Given the description of an element on the screen output the (x, y) to click on. 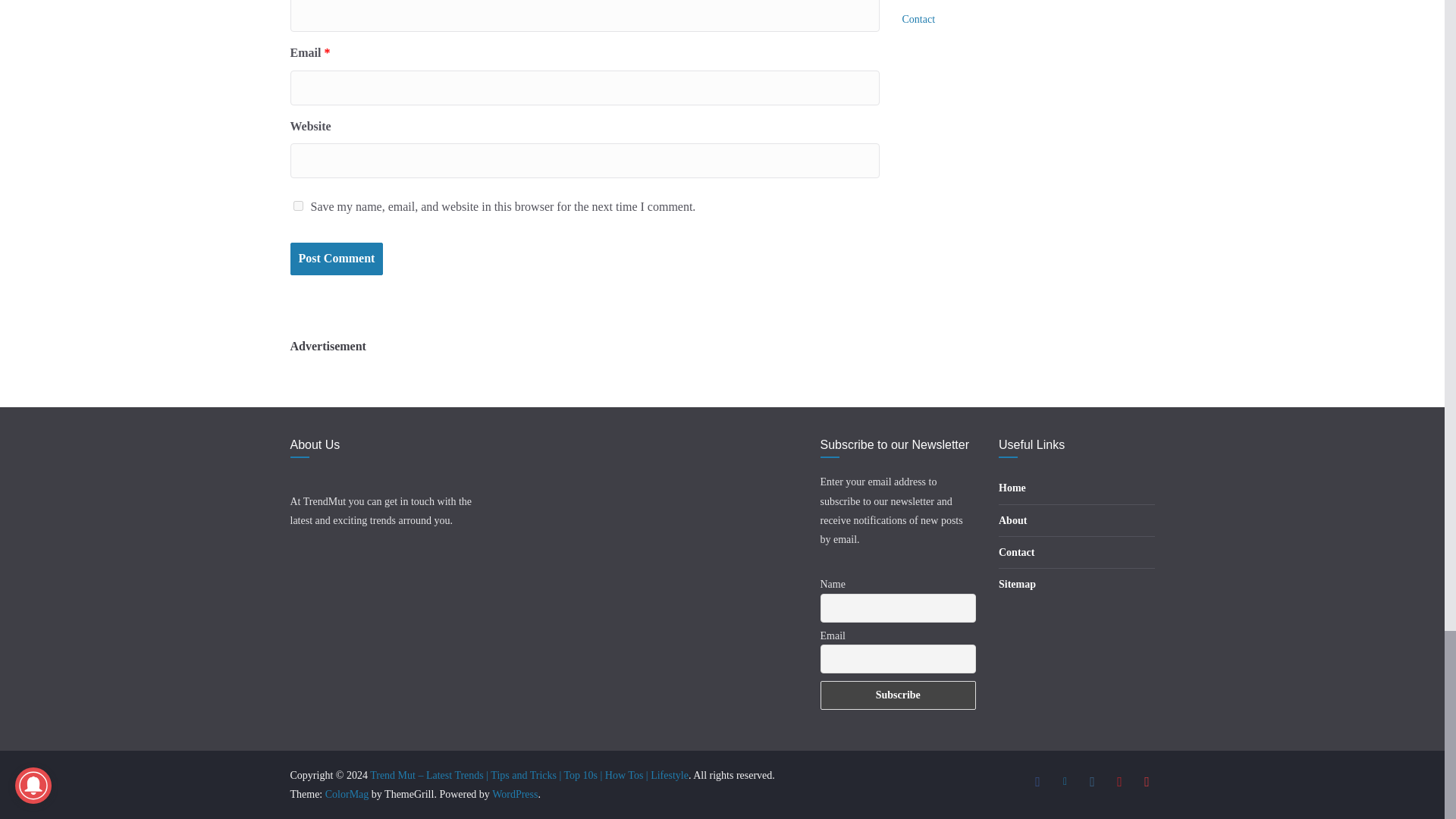
yes (297, 205)
Post Comment (335, 258)
Subscribe (898, 695)
